Given the description of an element on the screen output the (x, y) to click on. 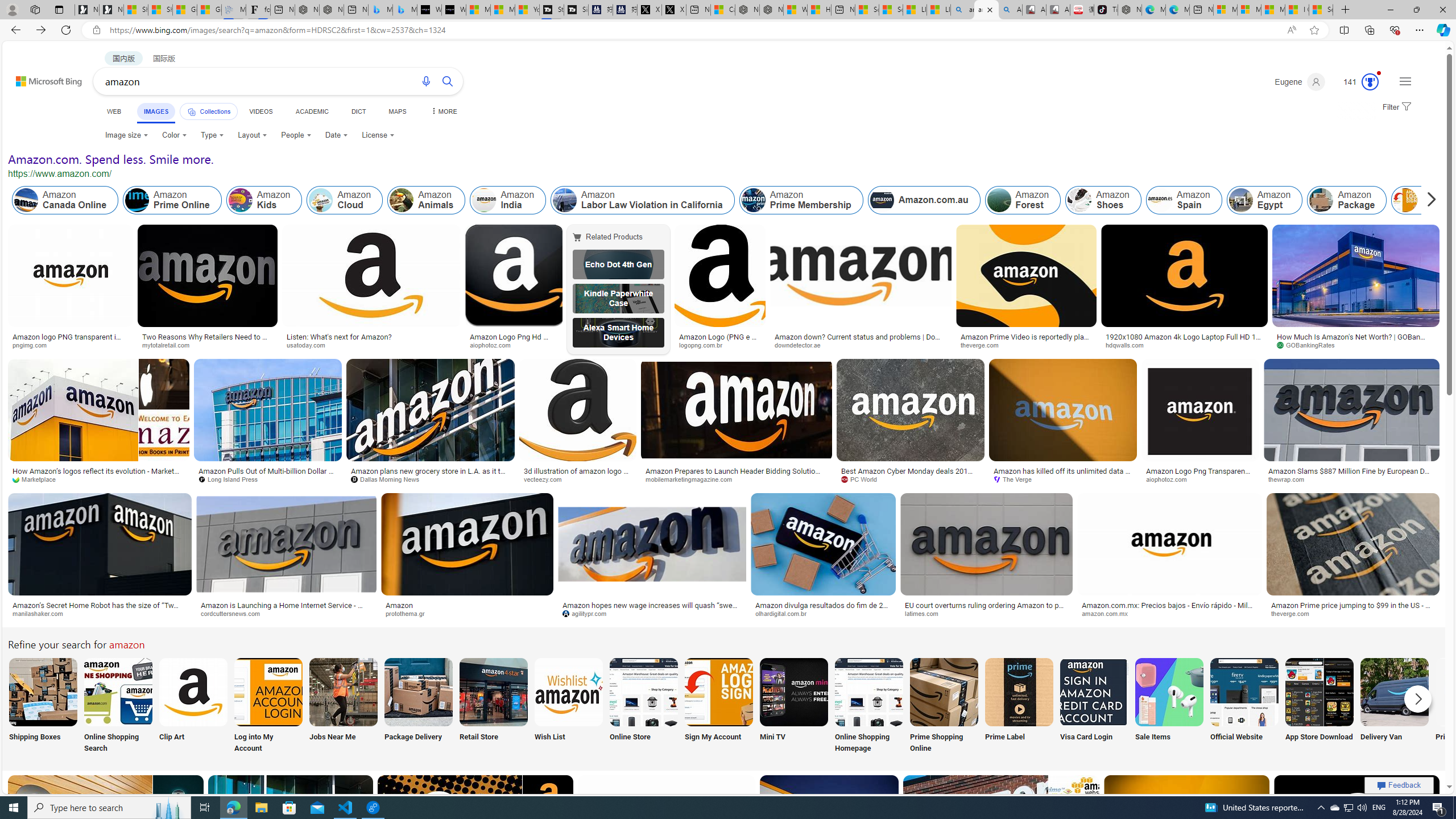
Sign My Account (718, 706)
Kindle Paperwhite Case (617, 298)
amazon - Search (962, 9)
Microsoft Rewards 141 (1356, 81)
Marketplace (38, 479)
Amazon Forest (1023, 199)
TikTok (1105, 9)
Amazon Delivery Van Delivery Van (1393, 706)
Dallas Morning News (388, 479)
Class: medal-circled (1369, 81)
